Given the description of an element on the screen output the (x, y) to click on. 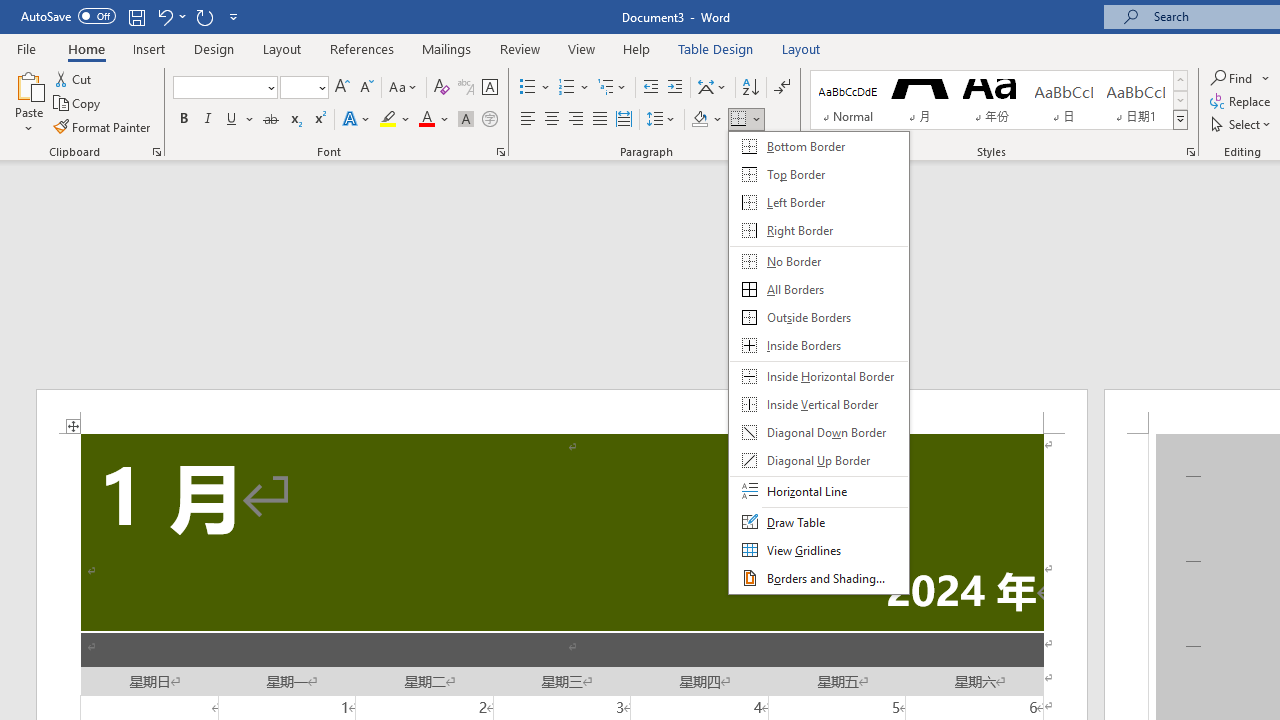
&Borders (819, 362)
Font Color RGB(255, 0, 0) (426, 119)
